Given the description of an element on the screen output the (x, y) to click on. 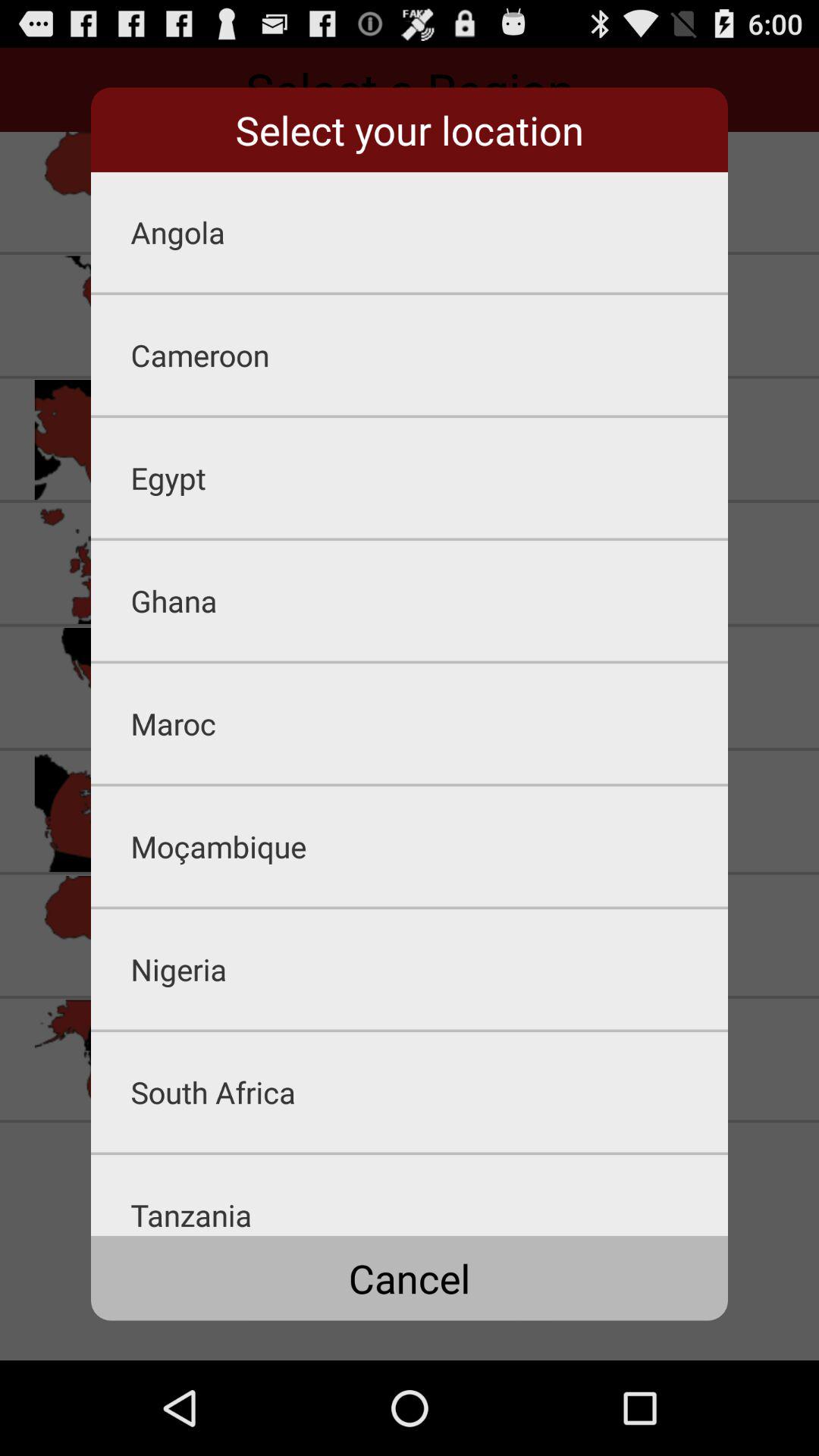
click nigeria icon (429, 969)
